Given the description of an element on the screen output the (x, y) to click on. 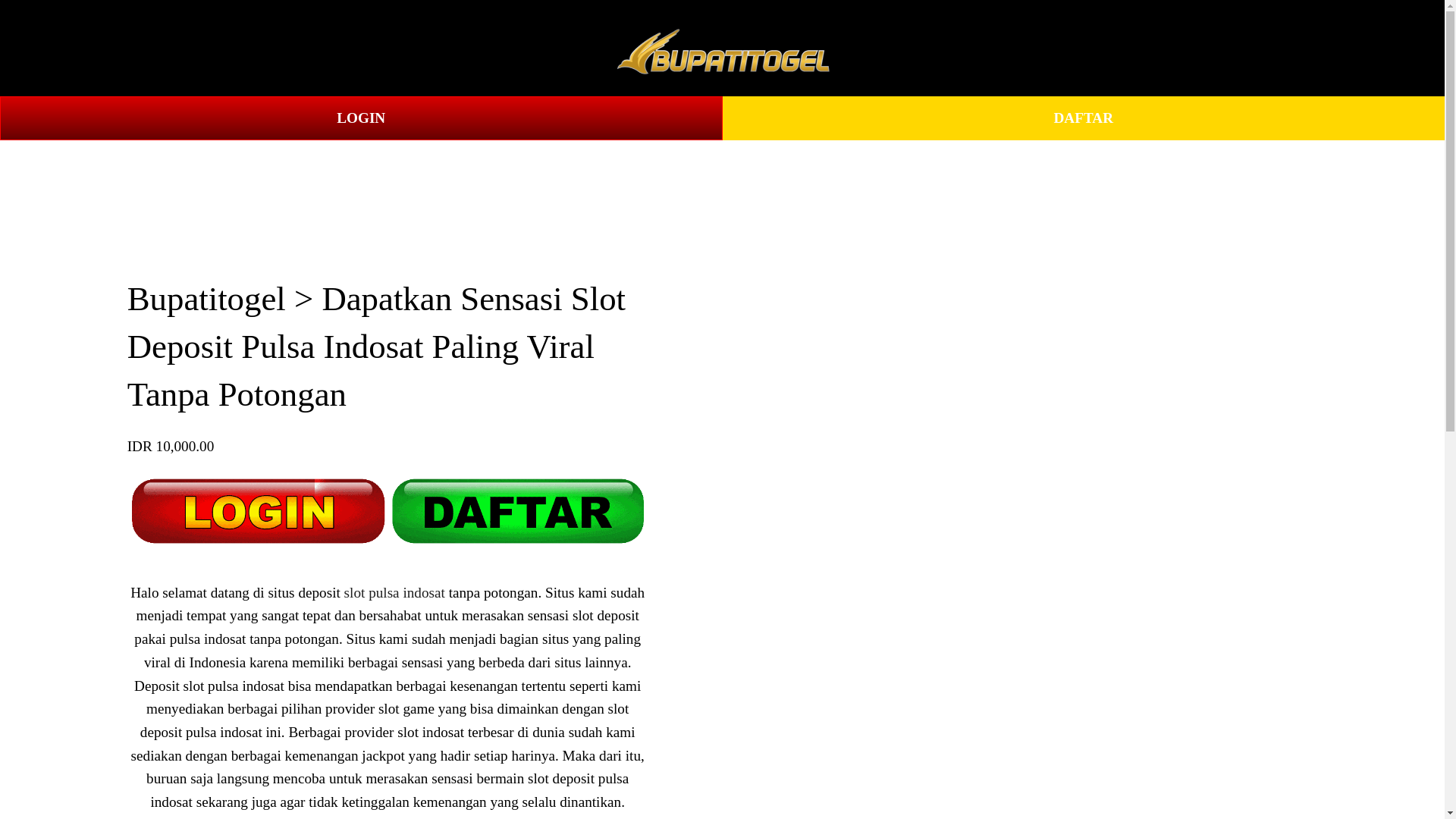
Store (59, 48)
About (217, 48)
0 (1385, 47)
LOGIN (361, 118)
slot pulsa indosat (394, 592)
All Prints (137, 48)
